Given the description of an element on the screen output the (x, y) to click on. 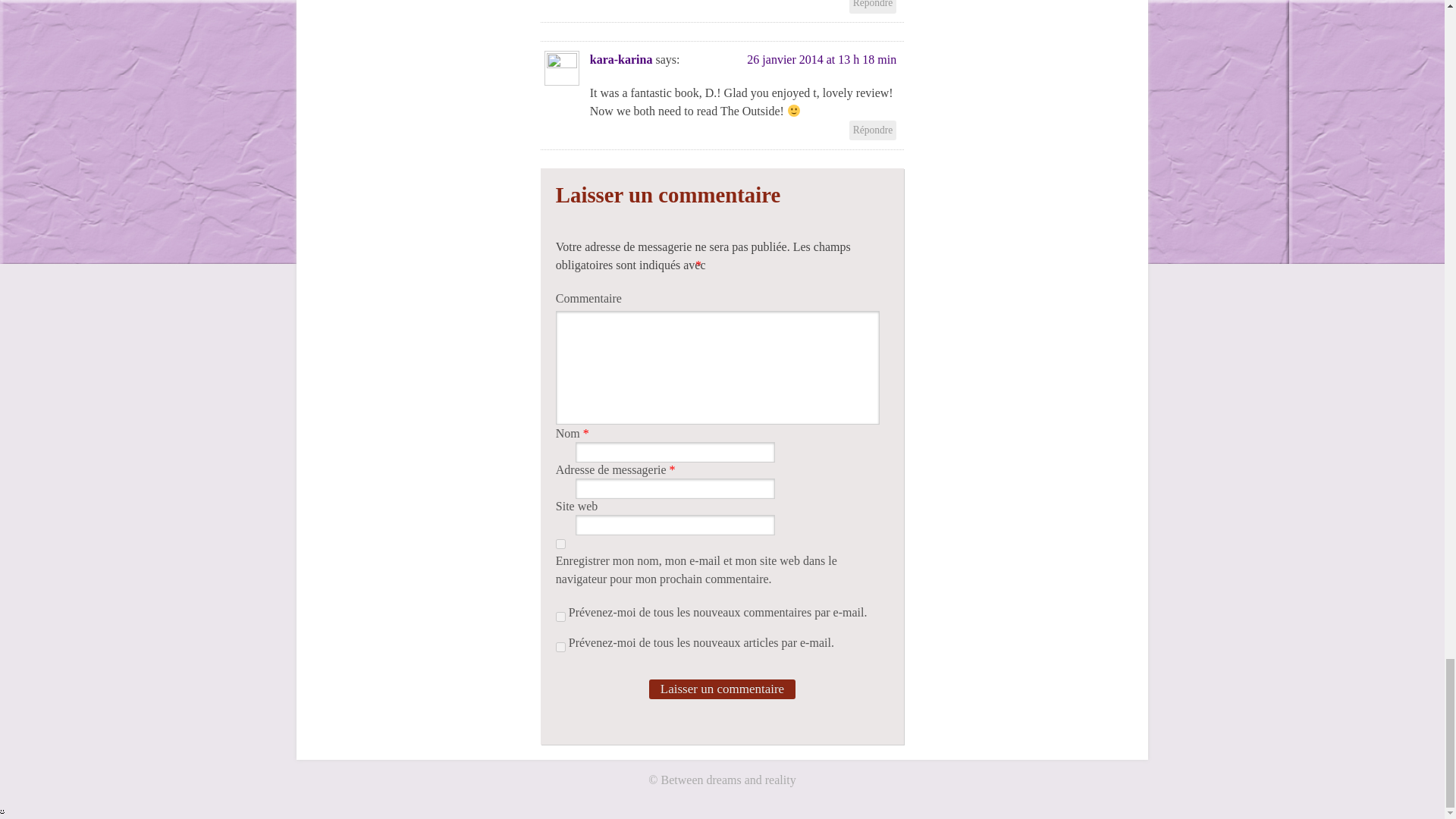
yes (561, 543)
Laisser un commentaire (721, 689)
subscribe (561, 646)
subscribe (561, 616)
